Given the description of an element on the screen output the (x, y) to click on. 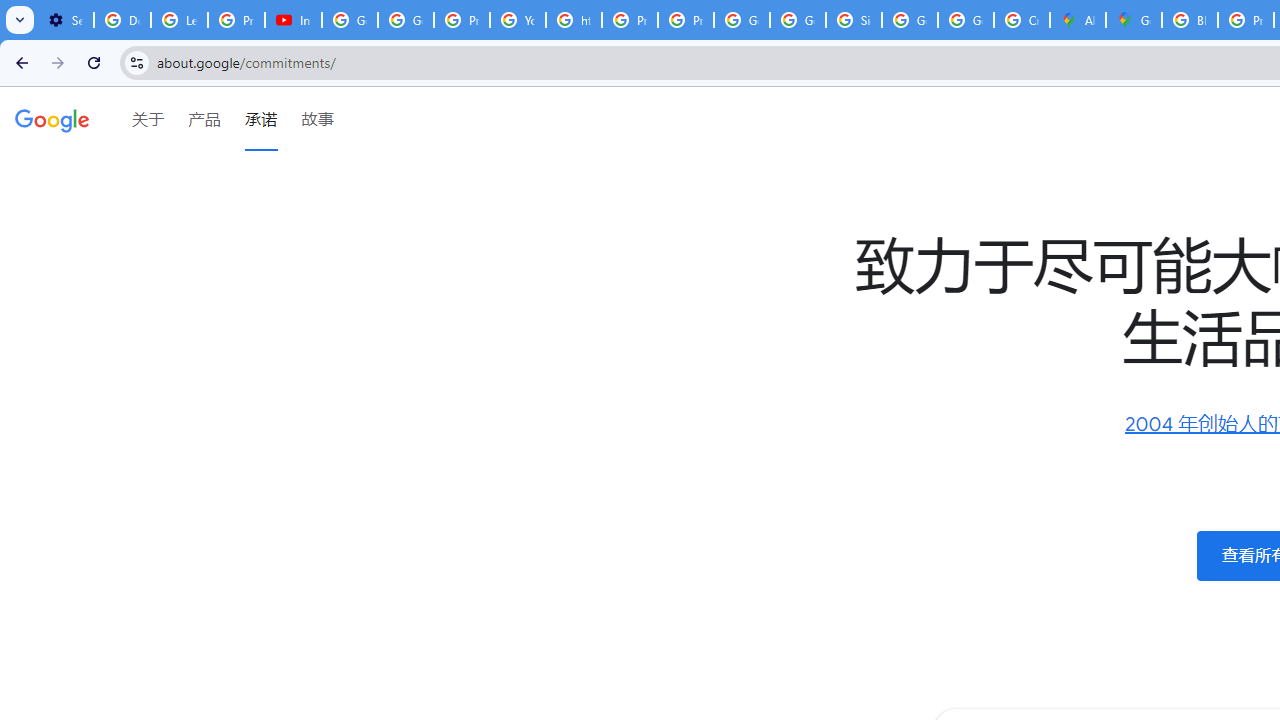
Create your Google Account (1021, 20)
